Given the description of an element on the screen output the (x, y) to click on. 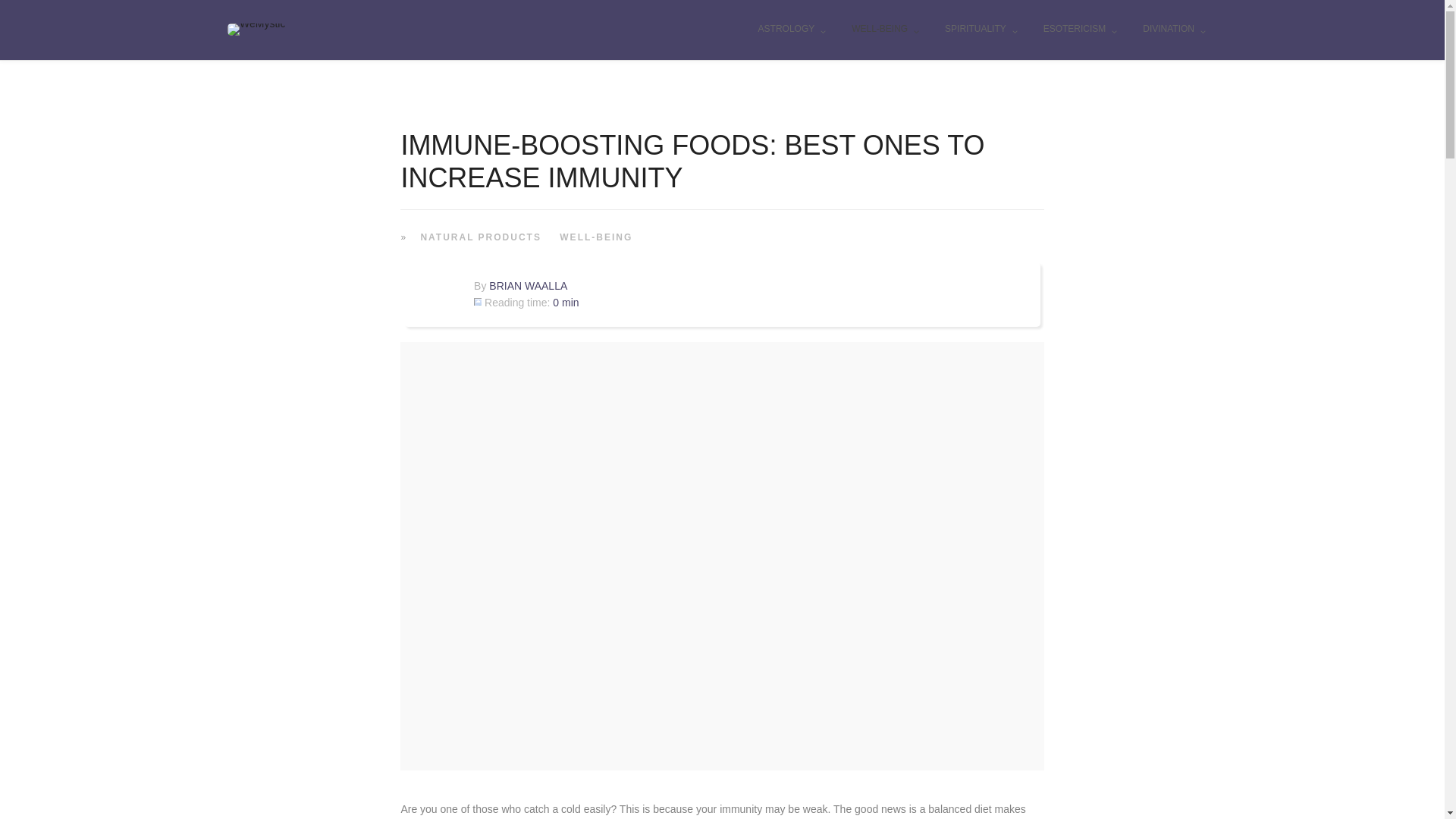
SPIRITUALITY (981, 30)
DIVINATION (1174, 30)
ESOTERICISM (1080, 30)
WELL-BEING (885, 30)
WELL-BEING (593, 235)
ASTROLOGY (792, 30)
BRIAN WAALLA (528, 285)
NATURAL PRODUCTS (478, 235)
